Given the description of an element on the screen output the (x, y) to click on. 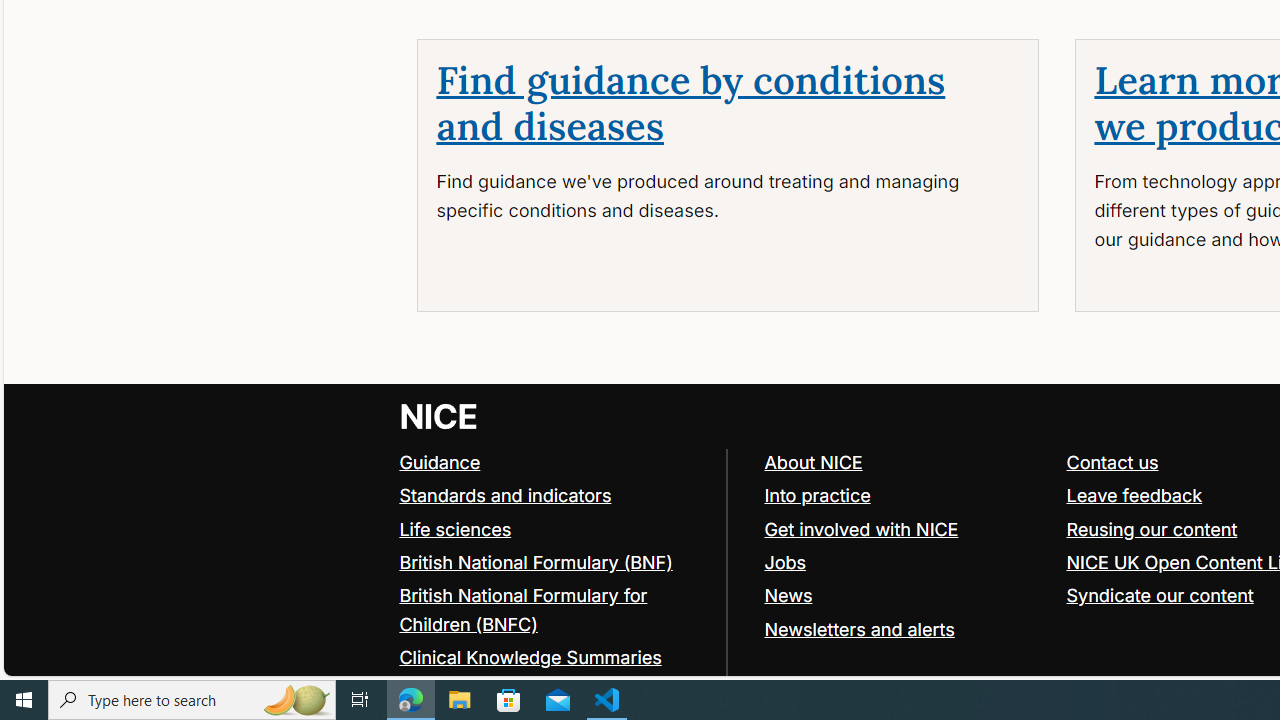
British National Formulary for Children (BNFC) (554, 610)
Go to NICE home page (439, 416)
Guidance (440, 461)
Get involved with NICE (861, 528)
Jobs (906, 562)
Reusing our content (1151, 528)
Get involved with NICE (906, 529)
Into practice (906, 495)
Life sciences (455, 528)
Contact us (1112, 461)
